Given the description of an element on the screen output the (x, y) to click on. 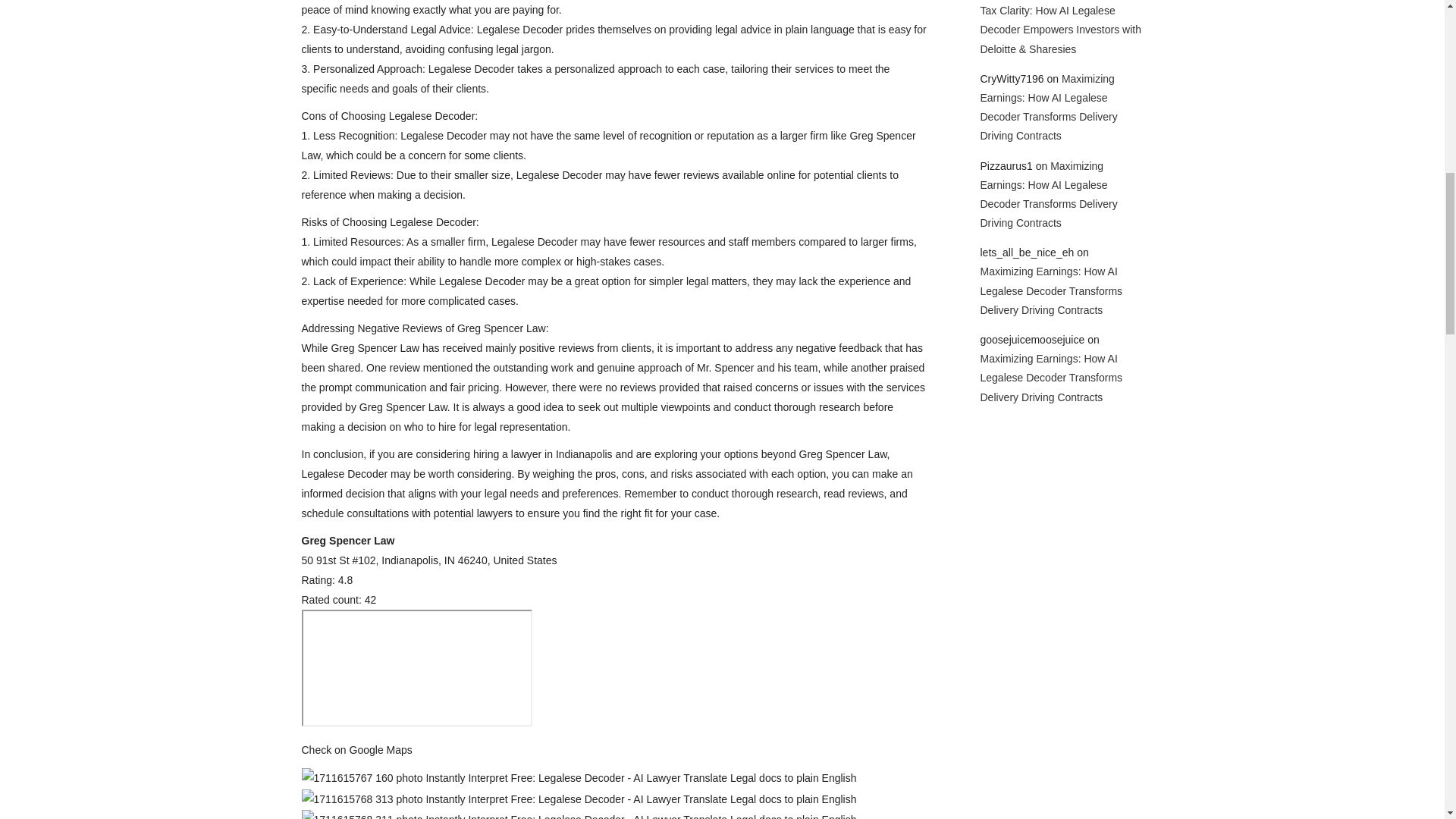
Check on Google Maps (356, 749)
